Given the description of an element on the screen output the (x, y) to click on. 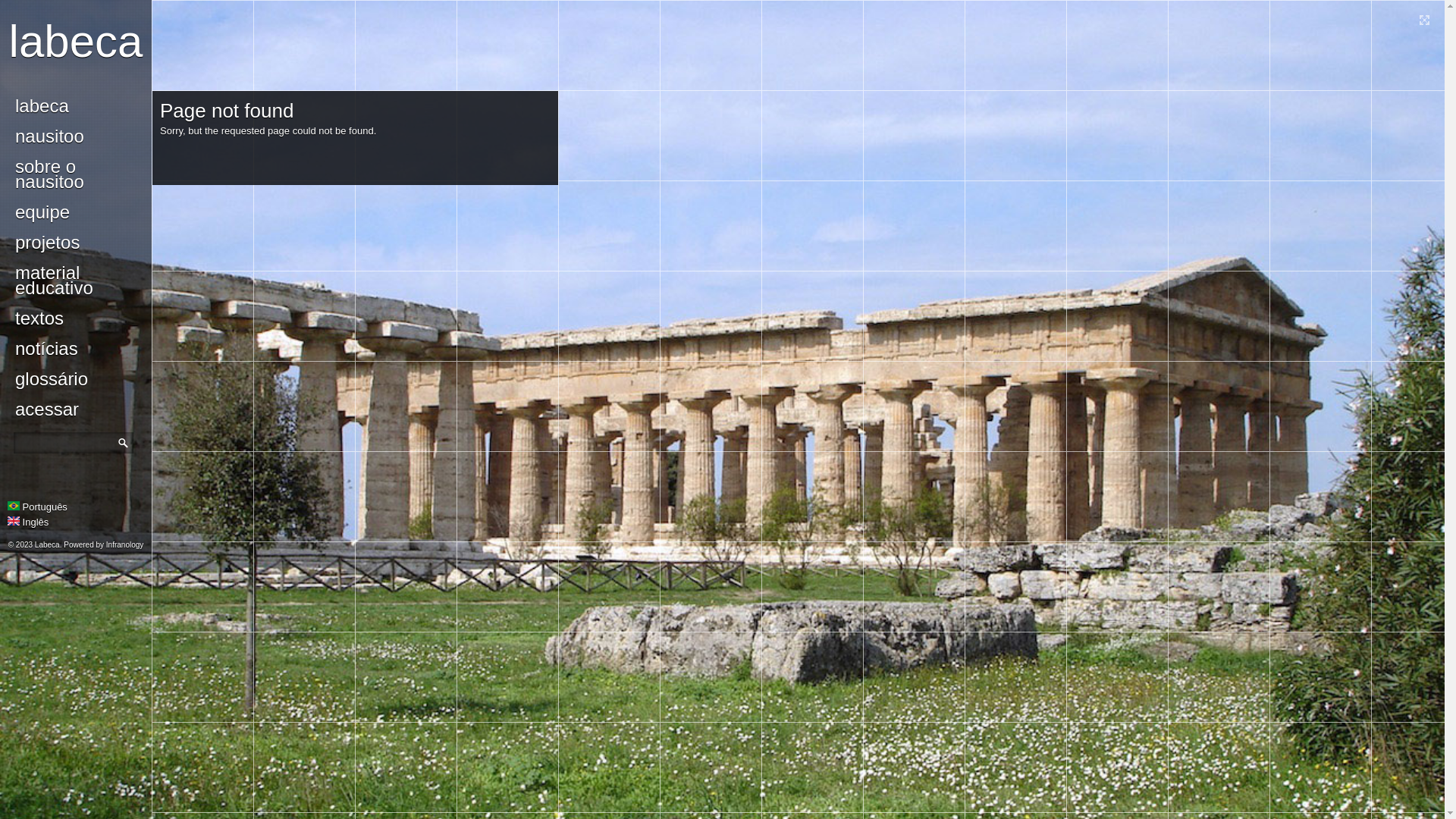
nausitoo Element type: text (75, 136)
Infranology Element type: text (124, 544)
acessar Element type: text (75, 409)
sobre o nausitoo Element type: text (75, 174)
equipe Element type: text (75, 212)
projetos Element type: text (75, 242)
labeca Element type: text (76, 40)
textos Element type: text (75, 318)
material educativo Element type: text (75, 280)
labeca Element type: text (75, 106)
